Given the description of an element on the screen output the (x, y) to click on. 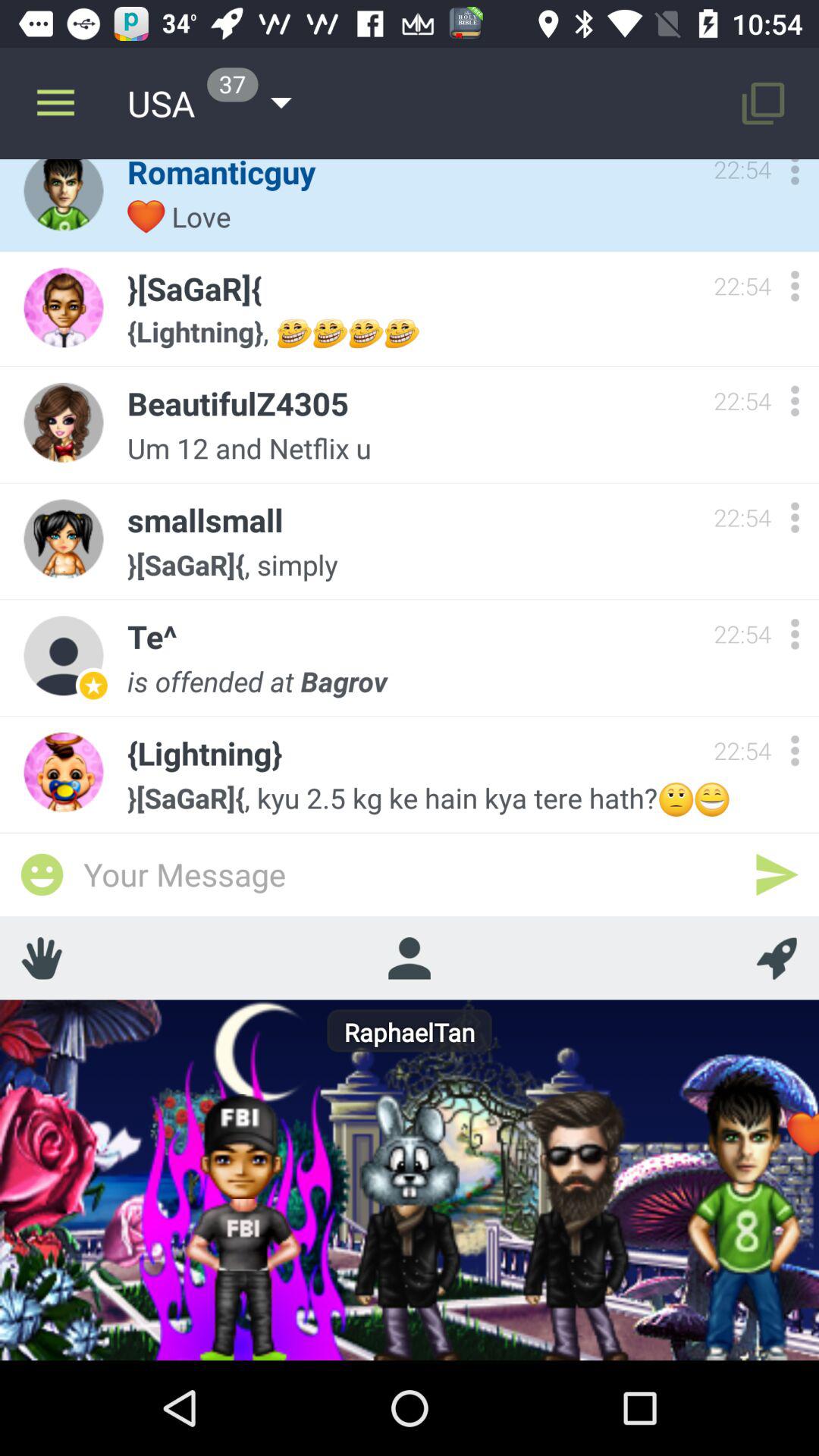
open options (795, 400)
